Given the description of an element on the screen output the (x, y) to click on. 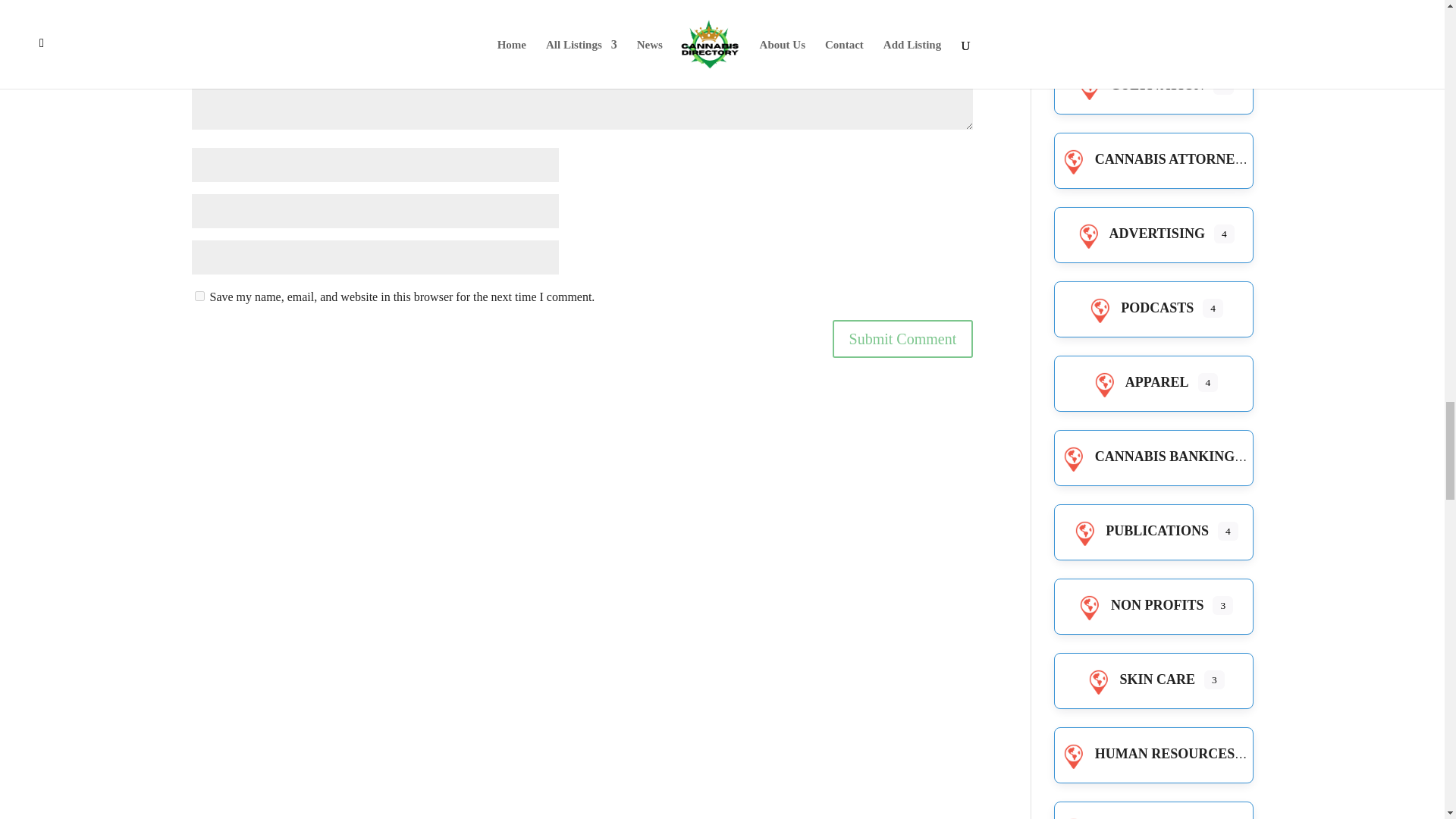
yes (198, 296)
Submit Comment (903, 338)
